Given the description of an element on the screen output the (x, y) to click on. 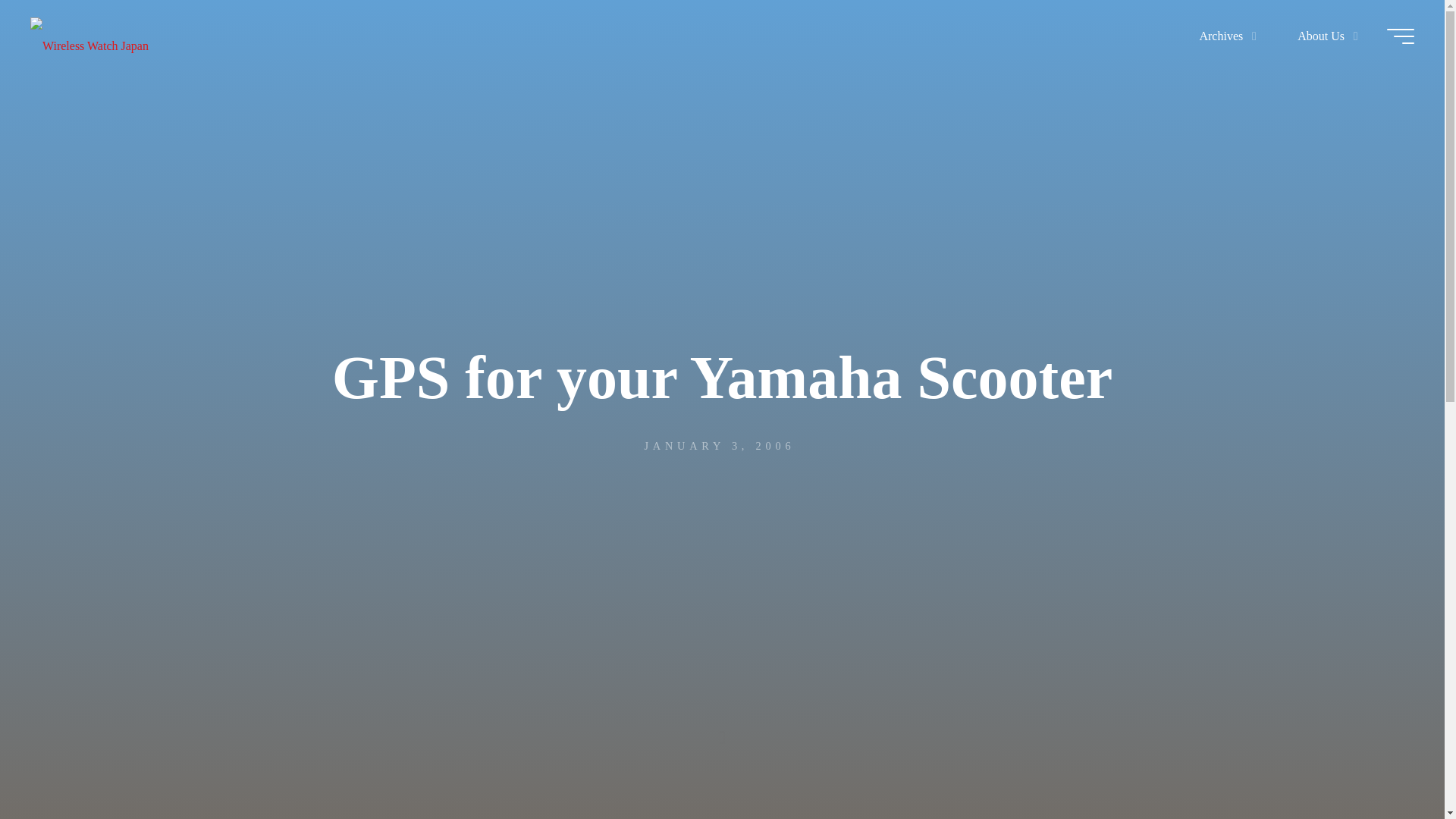
Archives (1223, 35)
Wireless Watch Japan (89, 35)
Read more (721, 724)
